Given the description of an element on the screen output the (x, y) to click on. 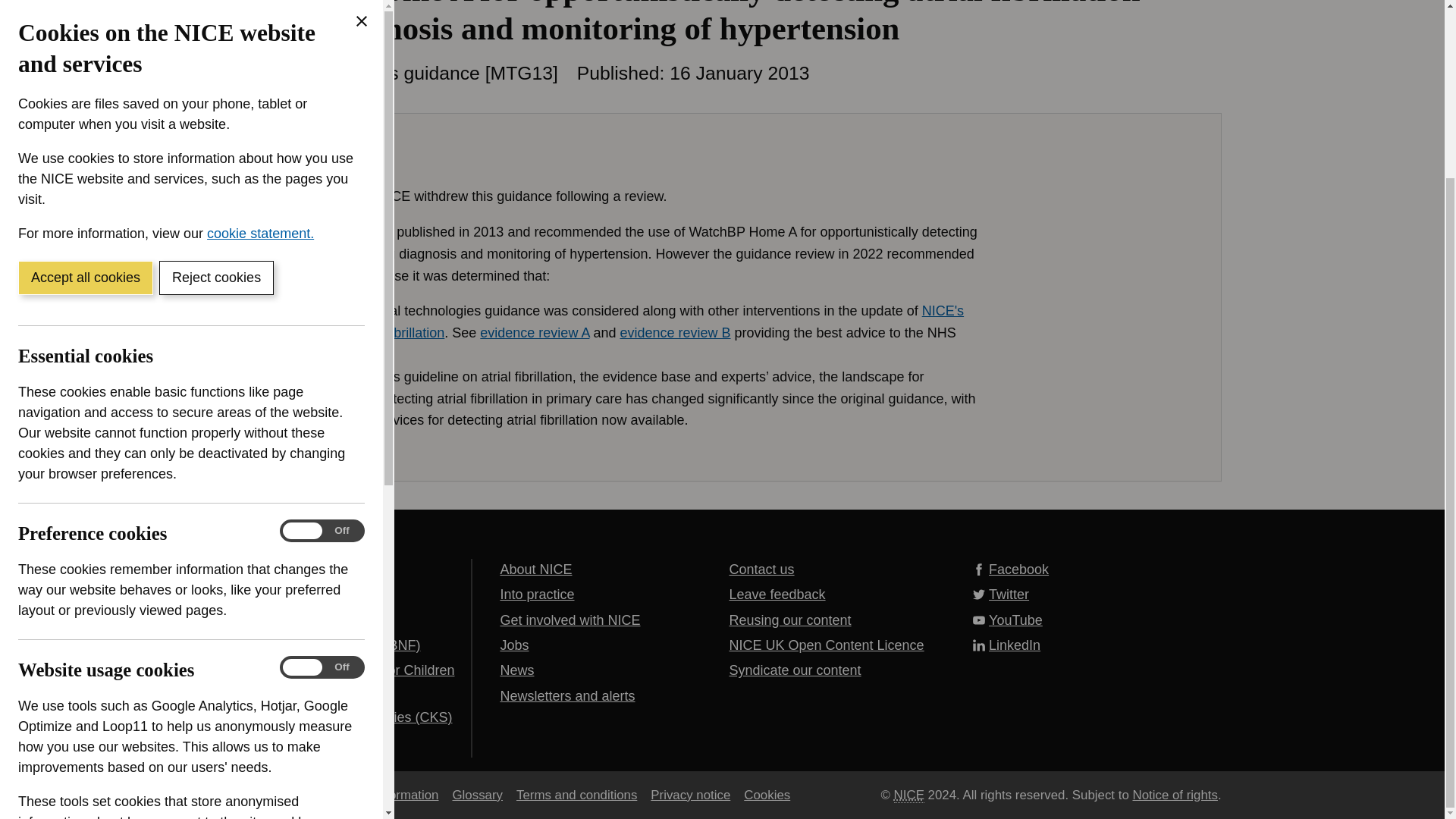
Accept all cookies (84, 59)
National Institute for Health and Care Excellence (908, 795)
Show vendors within this category (130, 664)
Reject cookies (215, 59)
